Given the description of an element on the screen output the (x, y) to click on. 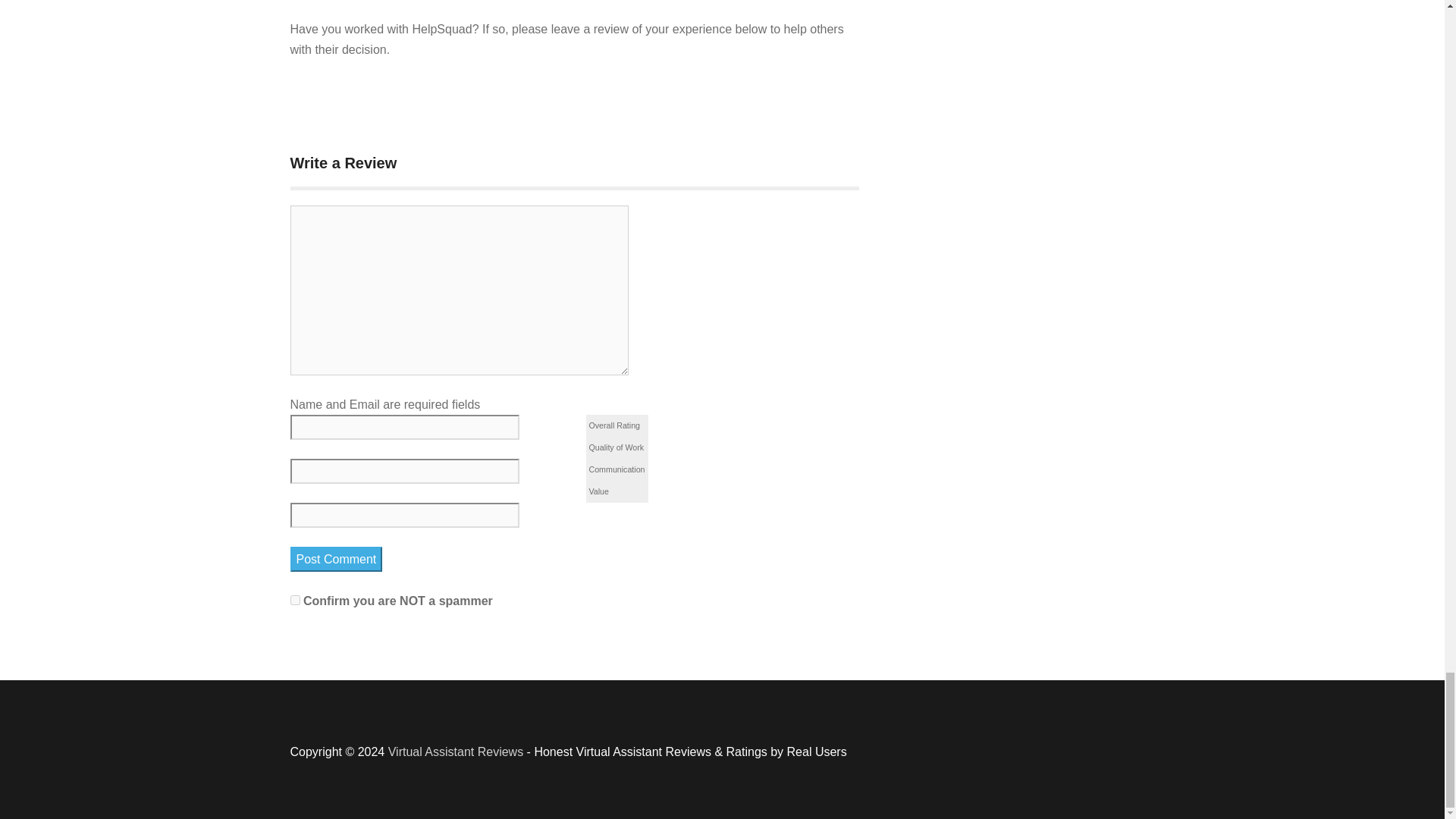
1 (654, 424)
on (294, 600)
3 (673, 424)
4 (682, 424)
Post Comment (335, 559)
5 (691, 424)
2 (663, 424)
